Given the description of an element on the screen output the (x, y) to click on. 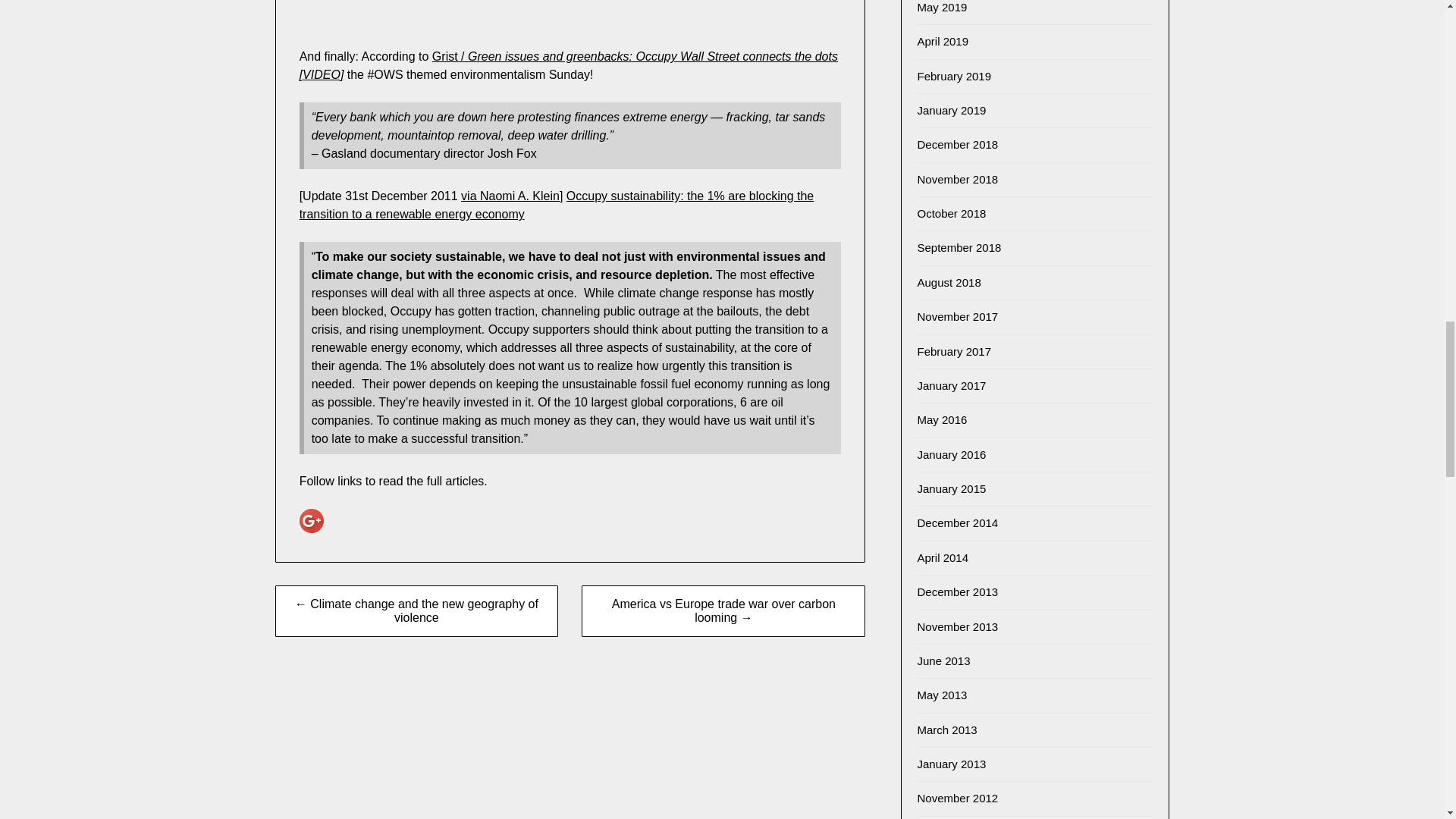
via Naomi A. Klein (510, 195)
